Given the description of an element on the screen output the (x, y) to click on. 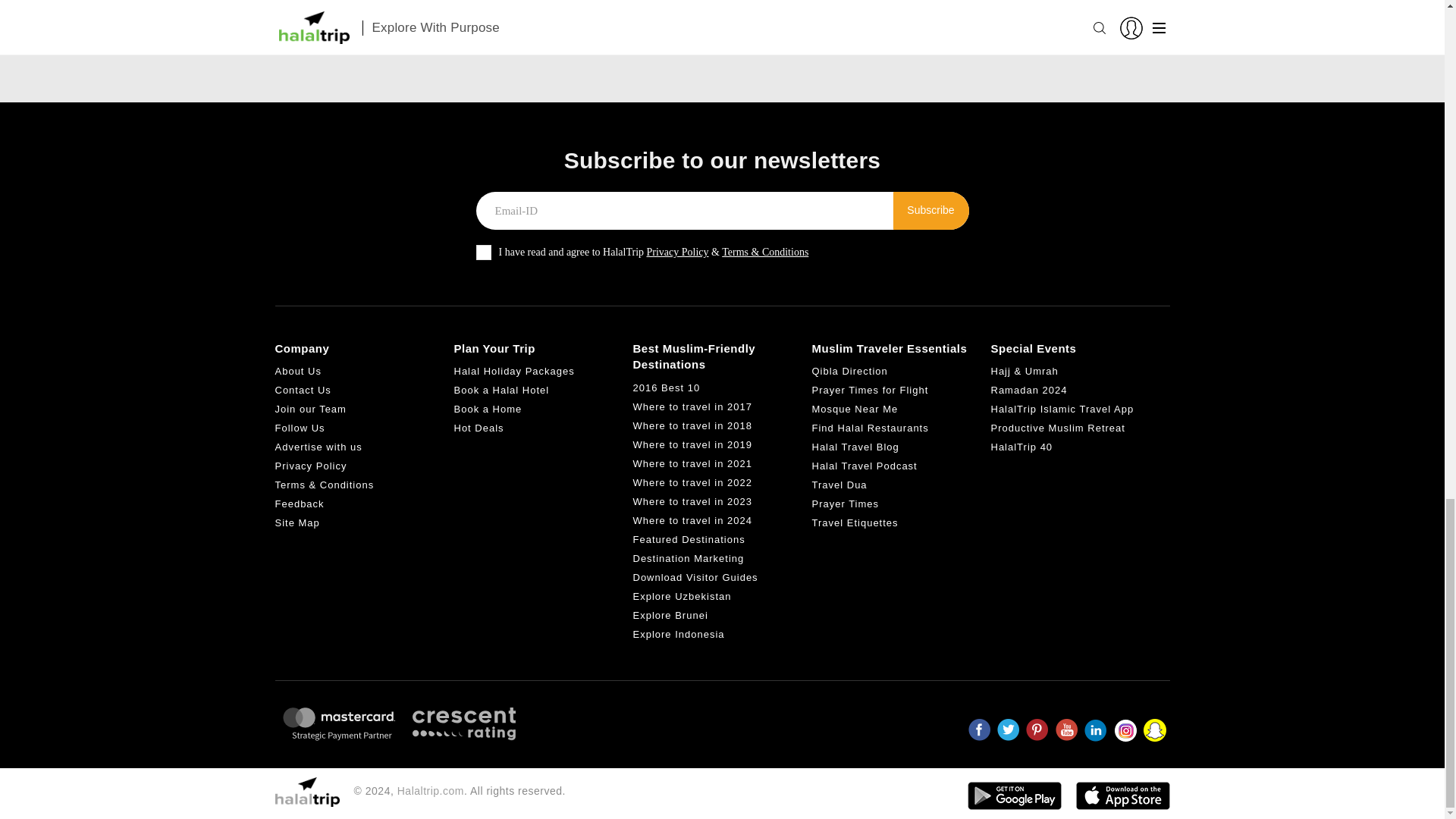
Subscribe (931, 210)
